Given the description of an element on the screen output the (x, y) to click on. 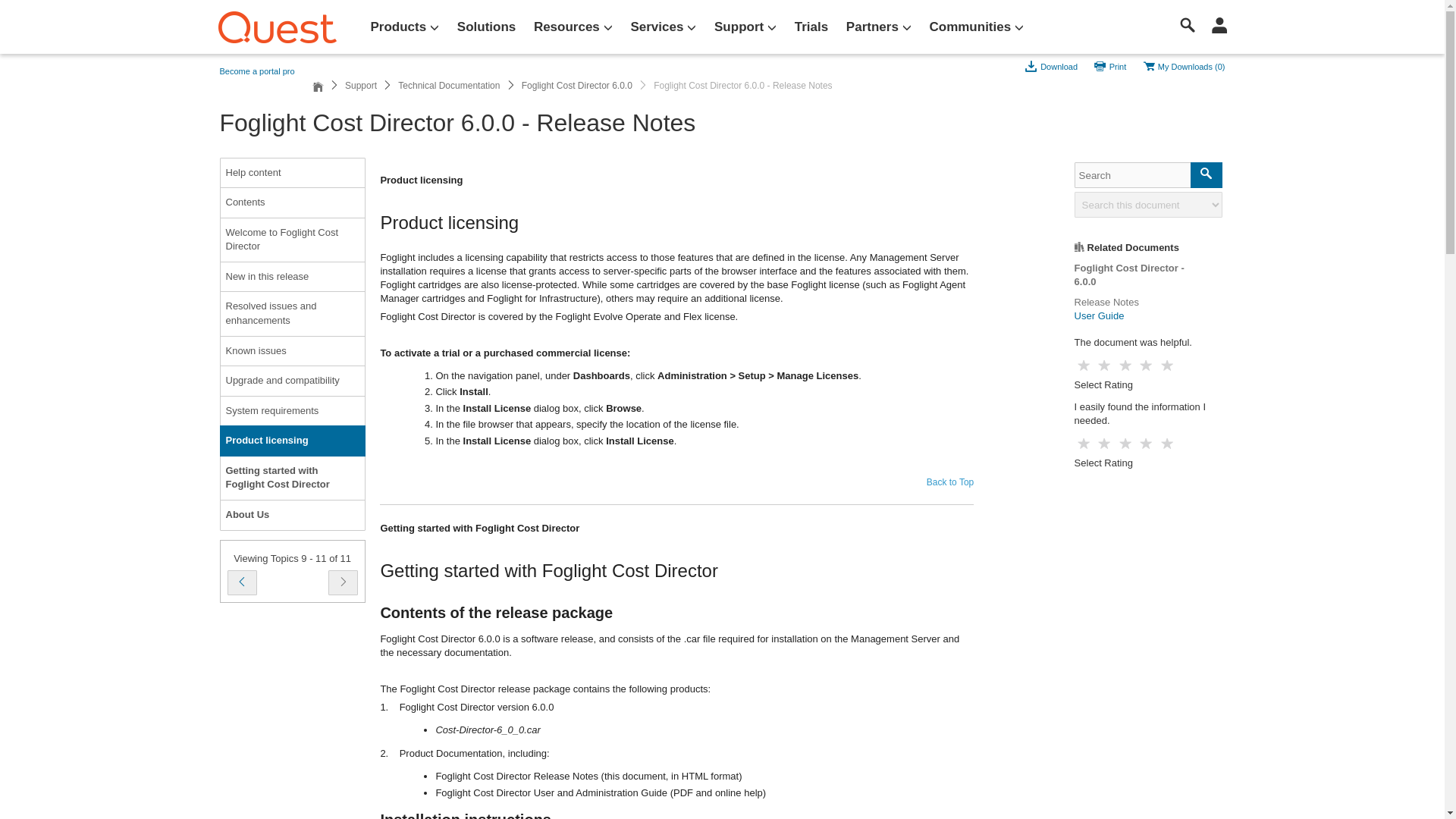
Resources (572, 27)
Solutions (485, 27)
Products (404, 27)
